Given the description of an element on the screen output the (x, y) to click on. 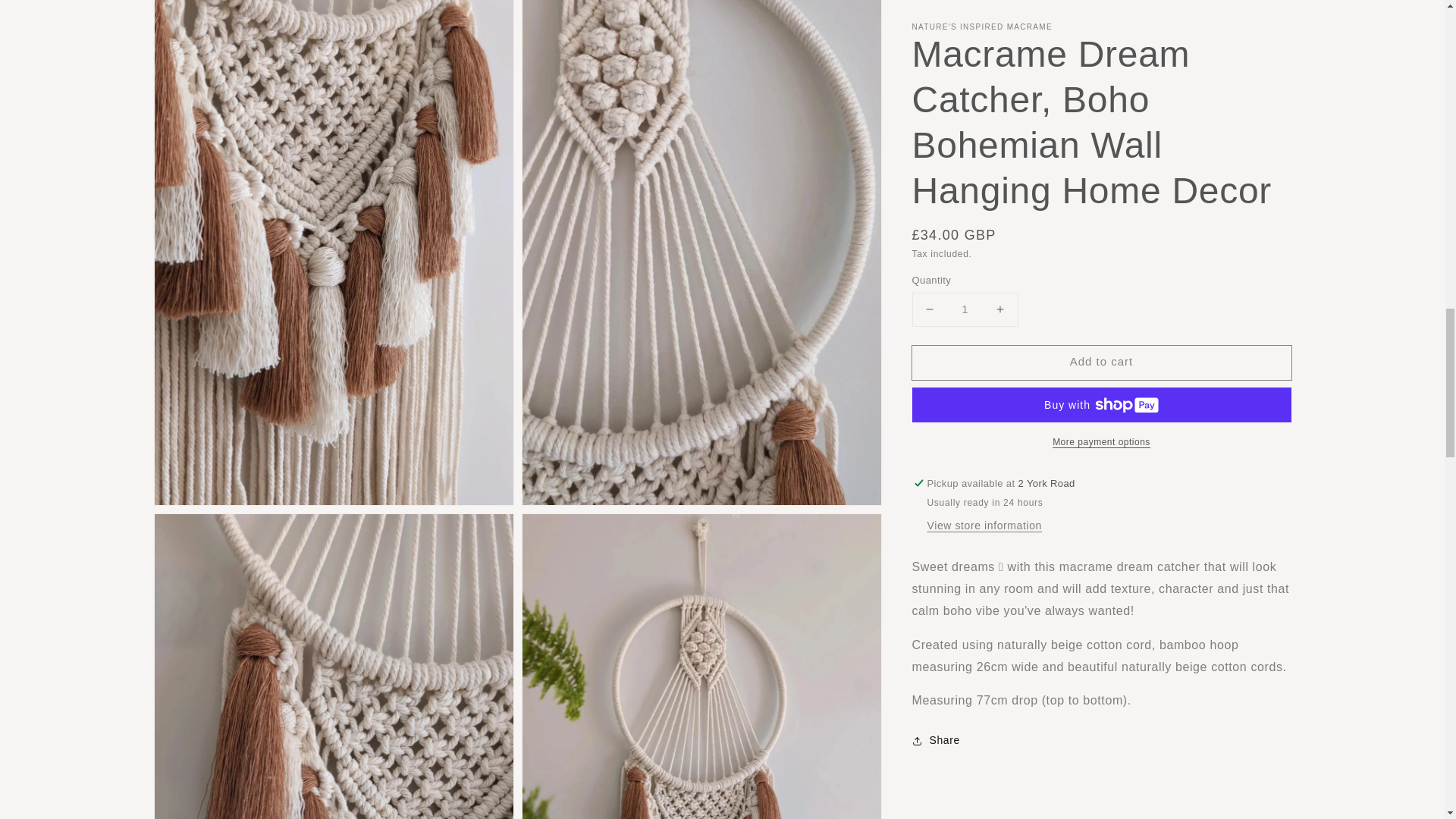
Open media 5 in gallery view (700, 666)
Open media 4 in gallery view (333, 666)
